Given the description of an element on the screen output the (x, y) to click on. 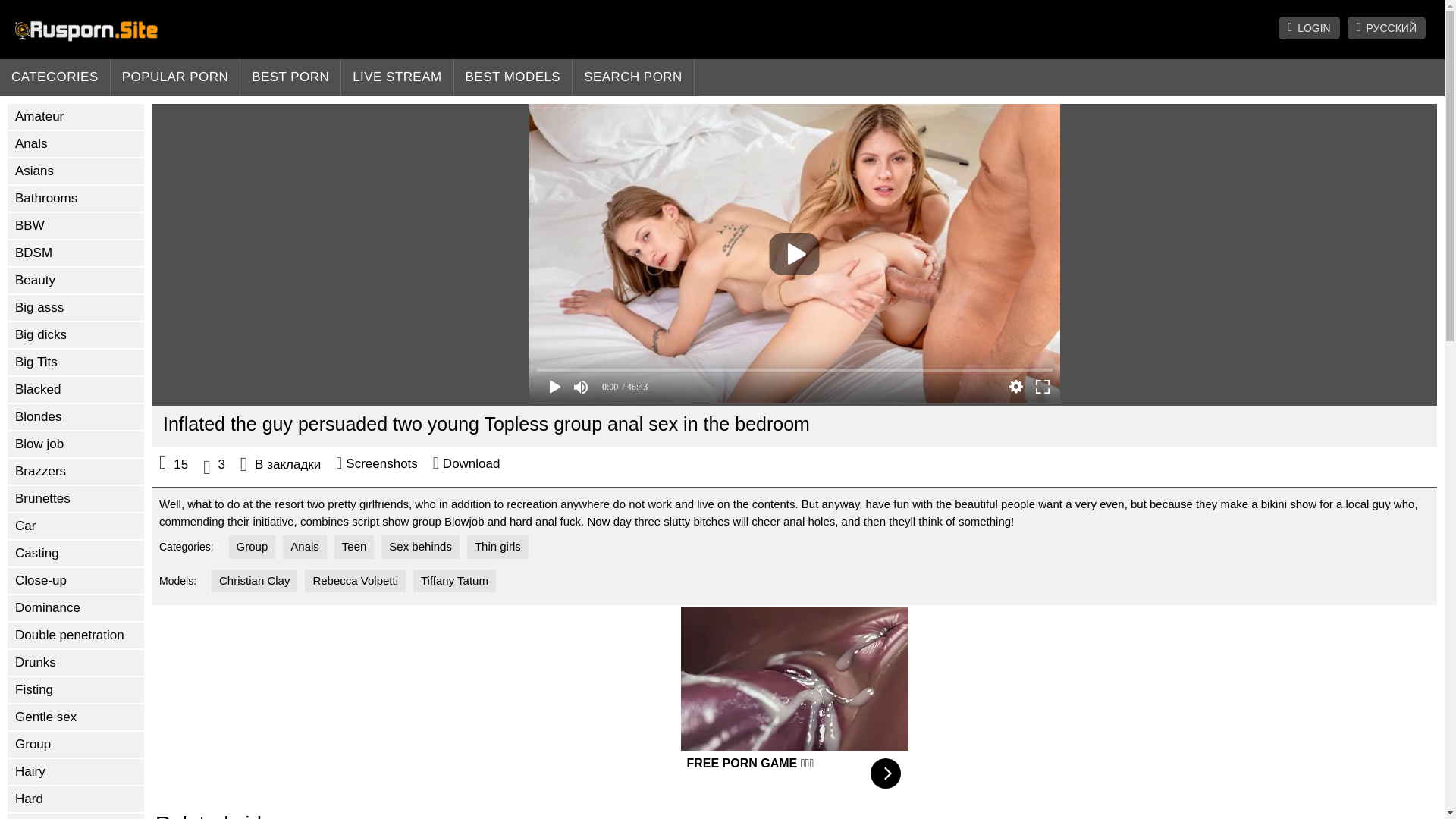
POPULAR PORN (175, 77)
Asians (75, 171)
Amateur (75, 116)
Brazzers (75, 471)
Fisting (75, 689)
Hairy (75, 771)
Close-up (75, 580)
Anals (75, 144)
Group (75, 744)
Beauty (75, 280)
